Given the description of an element on the screen output the (x, y) to click on. 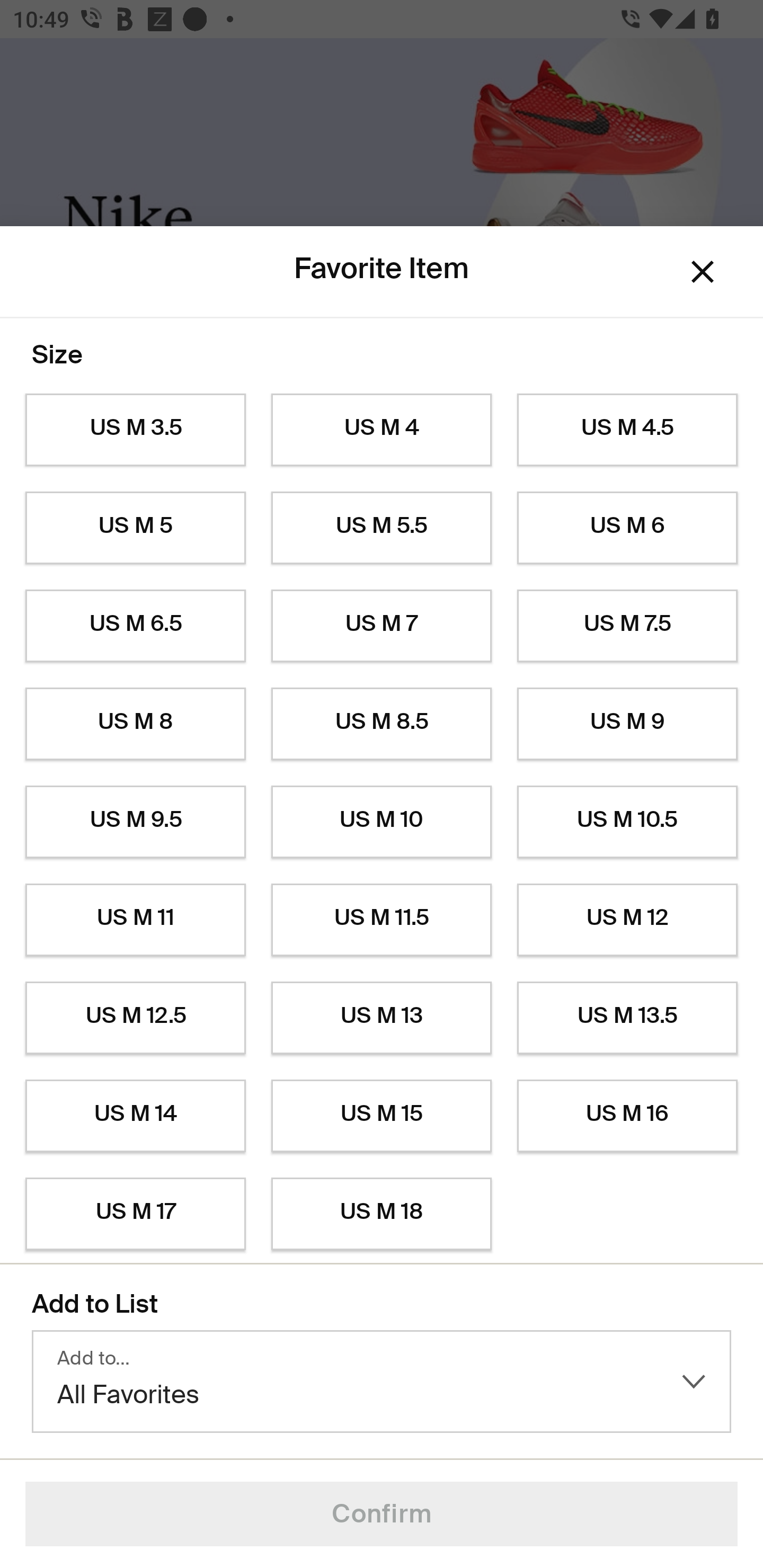
Dismiss (702, 271)
US M 3.5 (135, 430)
US M 4 (381, 430)
US M 4.5 (627, 430)
US M 5 (135, 527)
US M 5.5 (381, 527)
US M 6 (627, 527)
US M 6.5 (135, 626)
US M 7 (381, 626)
US M 7.5 (627, 626)
US M 8 (135, 724)
US M 8.5 (381, 724)
US M 9 (627, 724)
US M 9.5 (135, 822)
US M 10 (381, 822)
US M 10.5 (627, 822)
US M 11 (135, 919)
US M 11.5 (381, 919)
US M 12 (627, 919)
US M 12.5 (135, 1018)
US M 13 (381, 1018)
US M 13.5 (627, 1018)
US M 14 (135, 1116)
US M 15 (381, 1116)
US M 16 (627, 1116)
US M 17 (135, 1214)
US M 18 (381, 1214)
Add to… All Favorites (381, 1381)
Confirm (381, 1513)
